Given the description of an element on the screen output the (x, y) to click on. 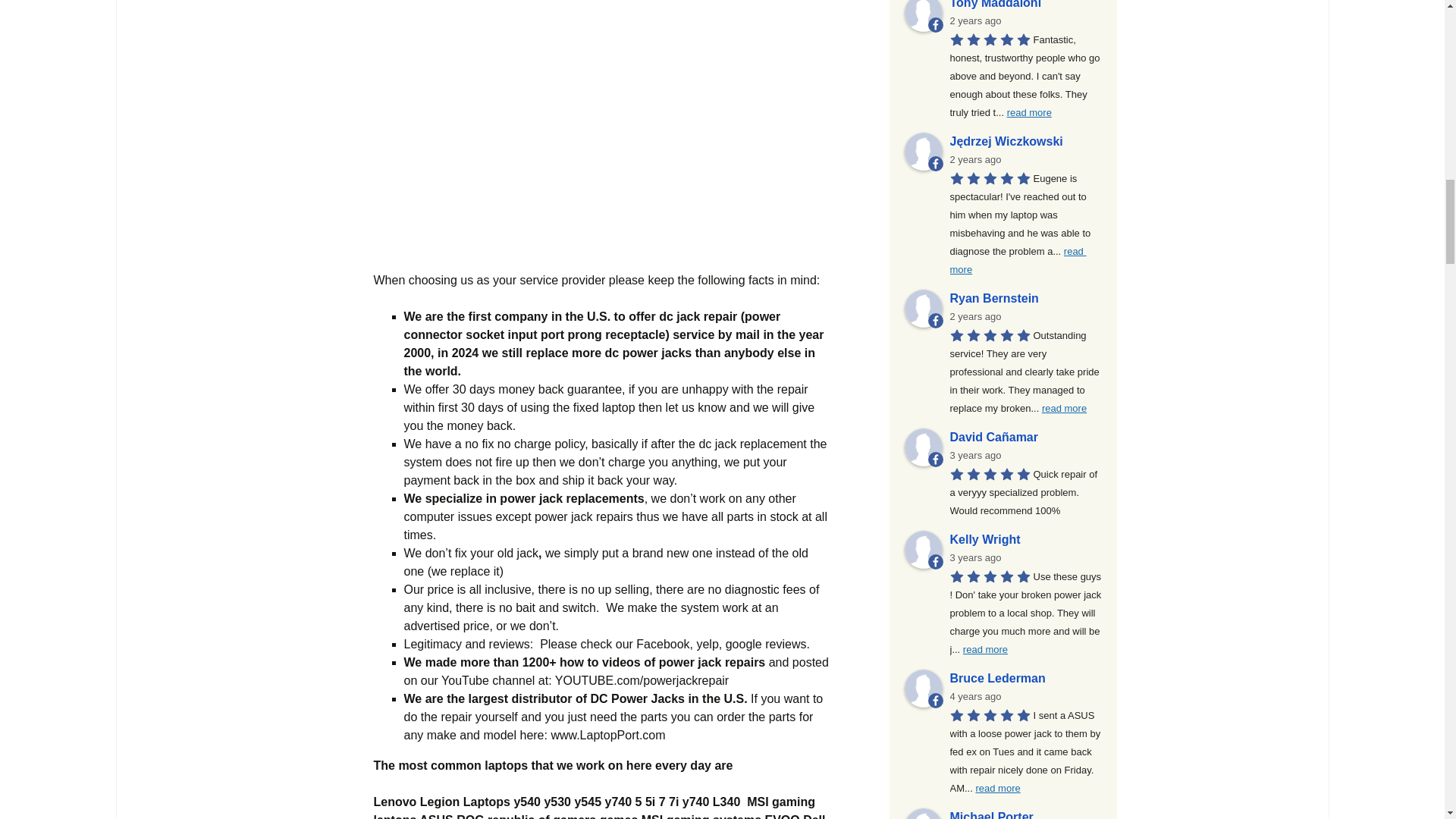
YouTube video player (601, 126)
